Given the description of an element on the screen output the (x, y) to click on. 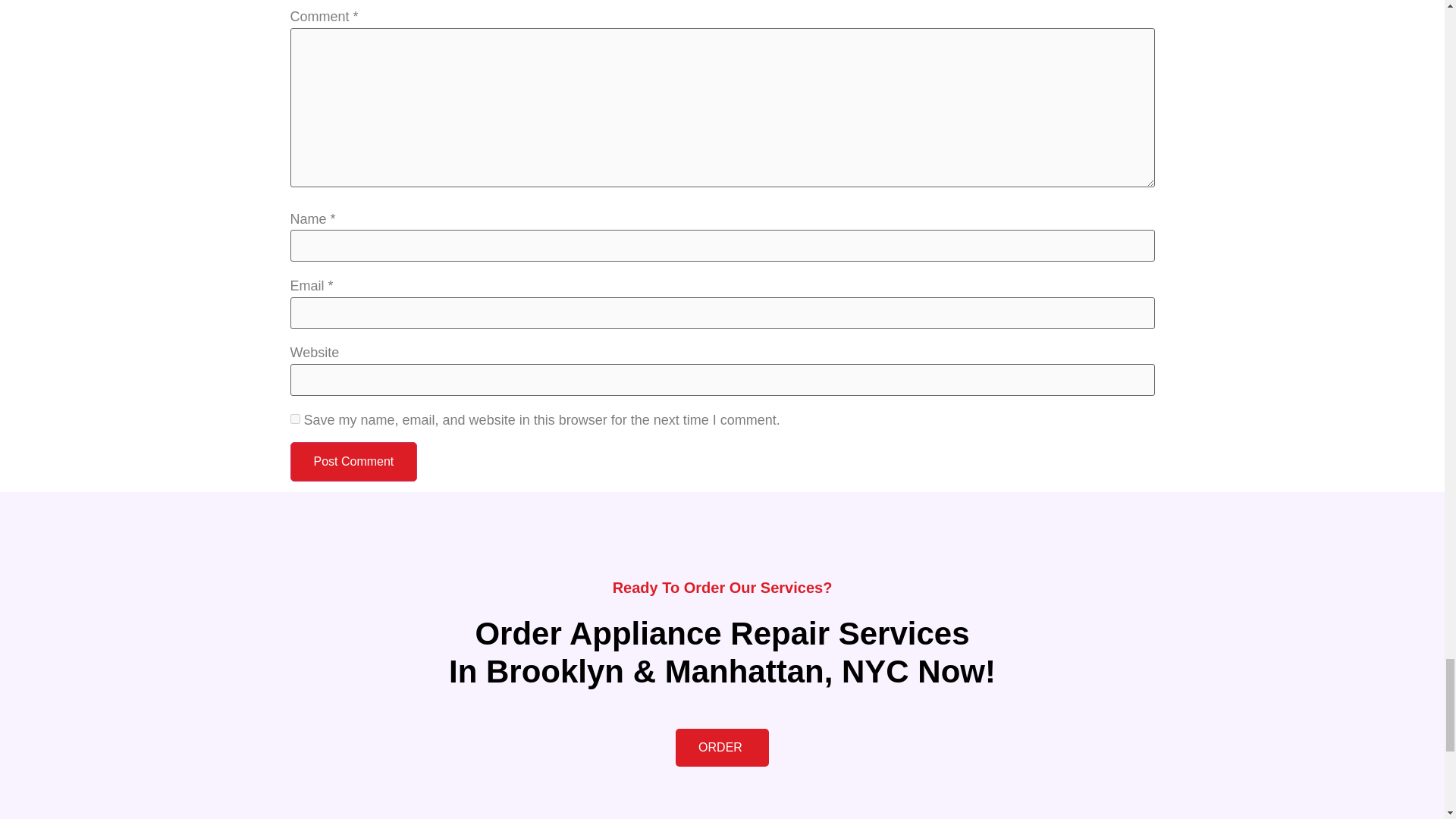
ORDER (721, 747)
Post Comment (352, 461)
Post Comment (352, 461)
yes (294, 419)
